Given the description of an element on the screen output the (x, y) to click on. 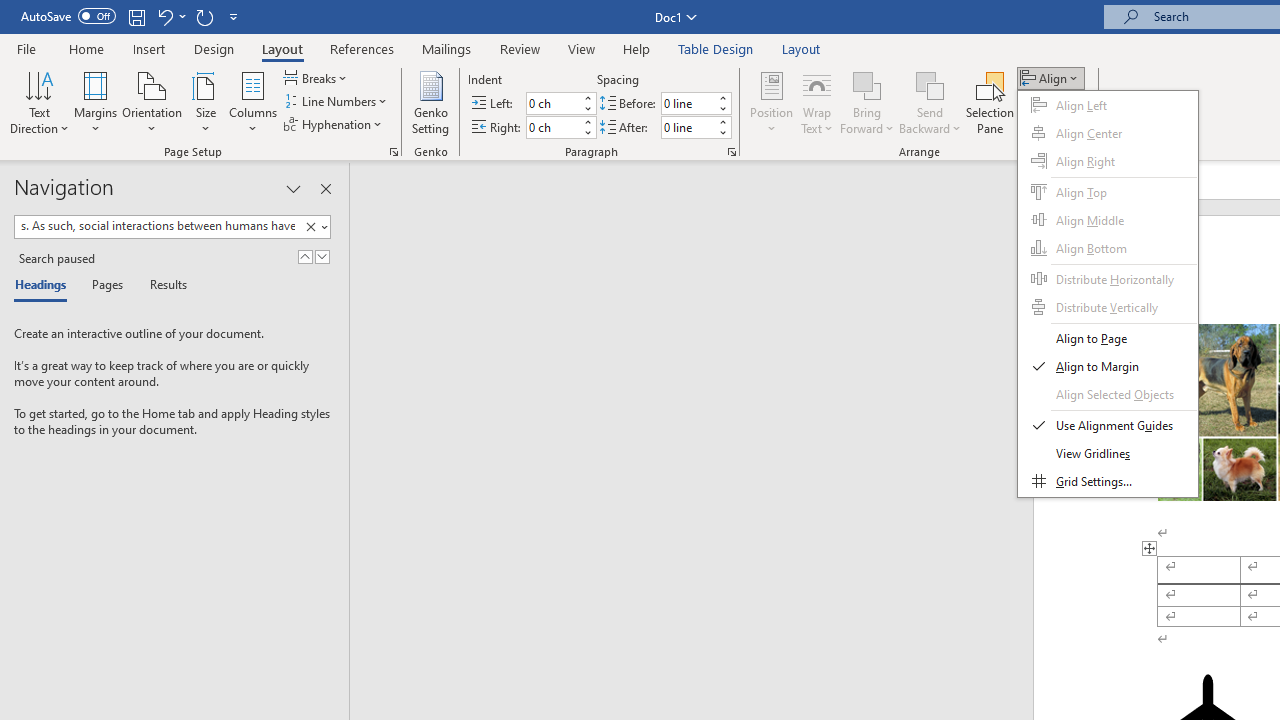
Bring Forward (867, 84)
Less (722, 132)
Orientation (152, 102)
More (722, 121)
Hyphenation (334, 124)
Clear (314, 227)
Undo Style (164, 15)
Indent Left (552, 103)
